Given the description of an element on the screen output the (x, y) to click on. 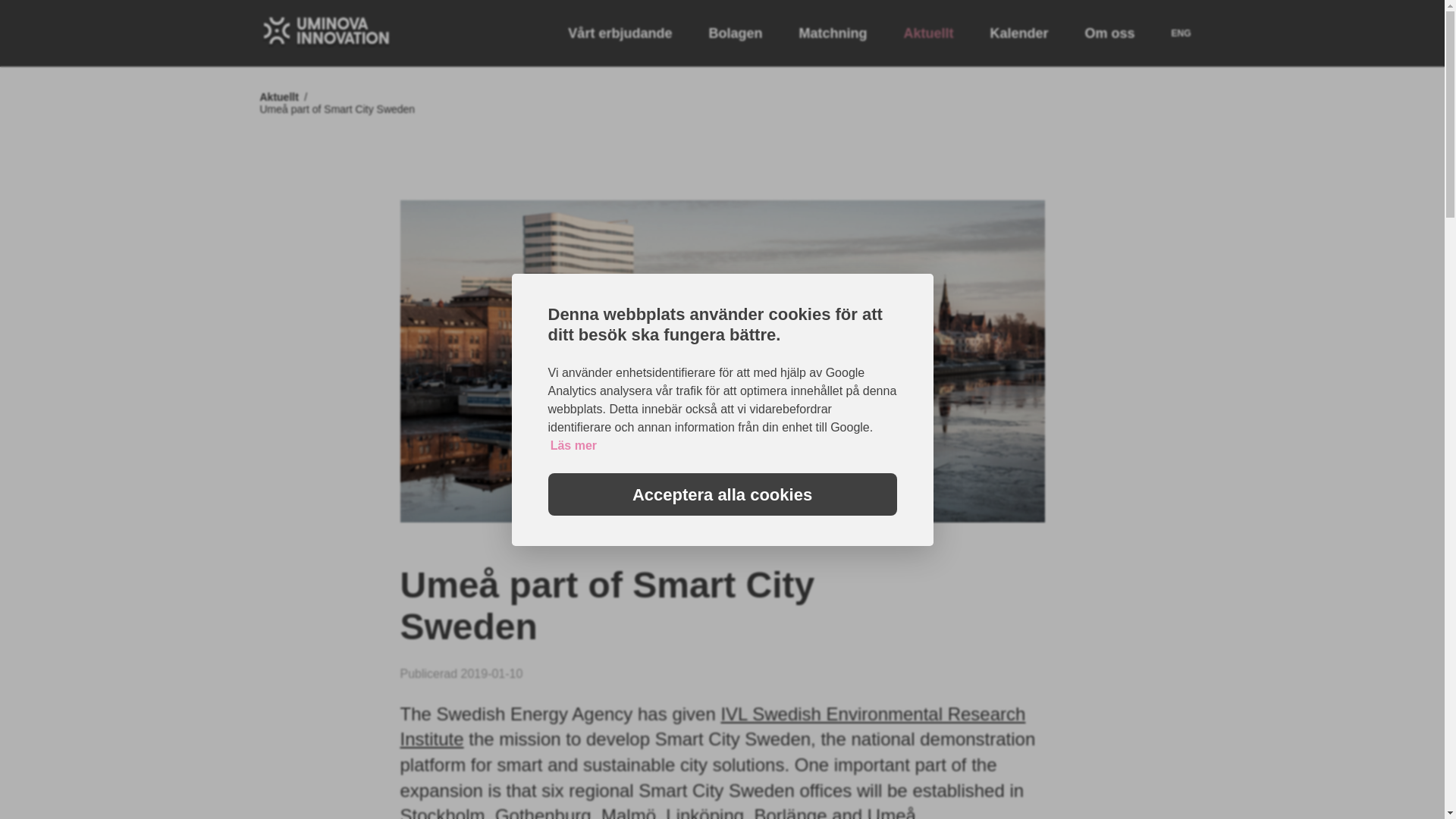
IVL Swedish Environmental Research Institute (713, 726)
Bolagen (734, 32)
Aktuellt (927, 32)
ENG (1180, 33)
Matchning (831, 32)
Om oss (1109, 32)
Kalender (1019, 32)
